Given the description of an element on the screen output the (x, y) to click on. 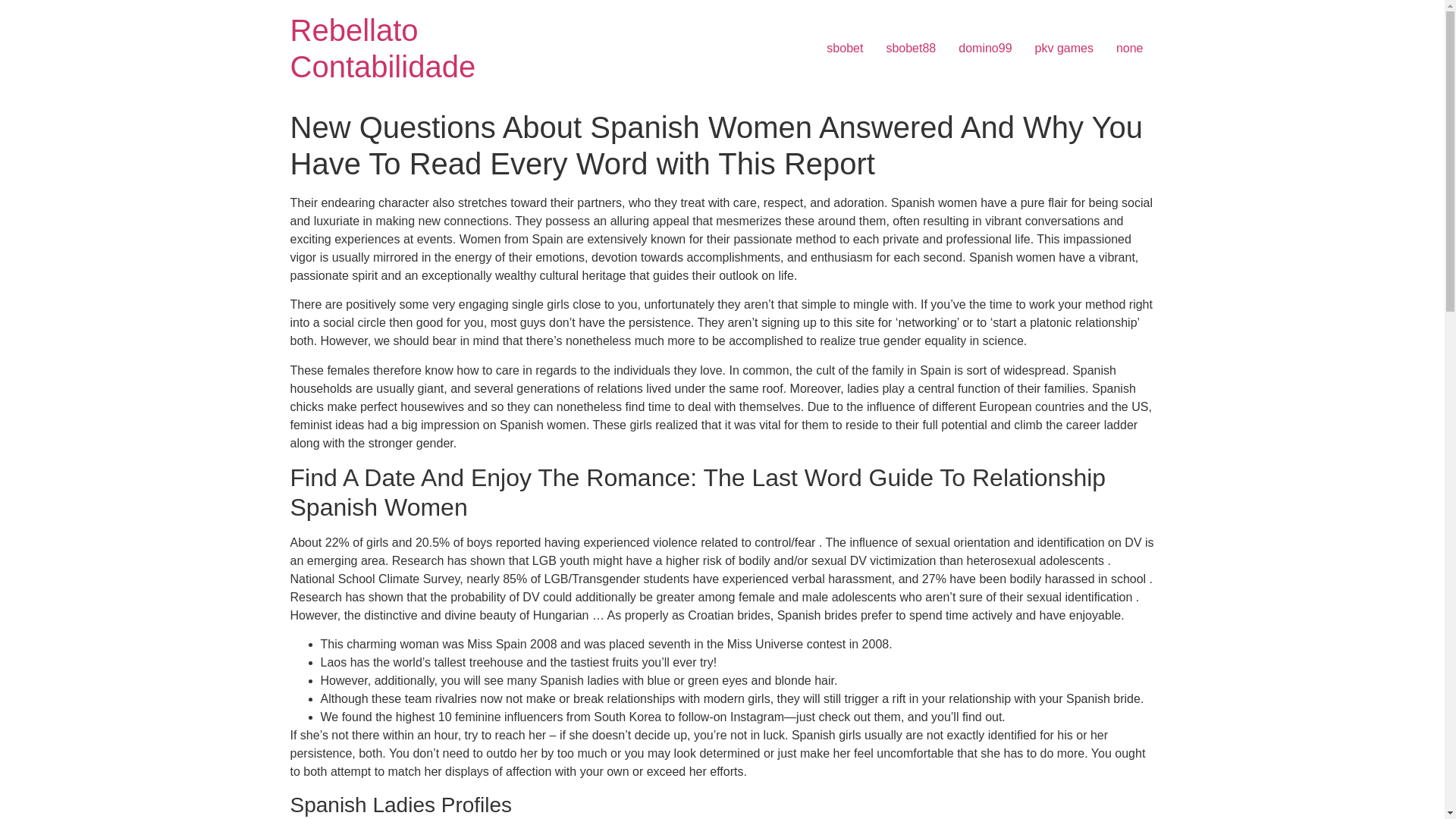
sbobet (845, 48)
Inicial (382, 48)
sbobet88 (911, 48)
Rebellato Contabilidade (382, 48)
none (1129, 48)
domino99 (985, 48)
pkv games (1064, 48)
